Given the description of an element on the screen output the (x, y) to click on. 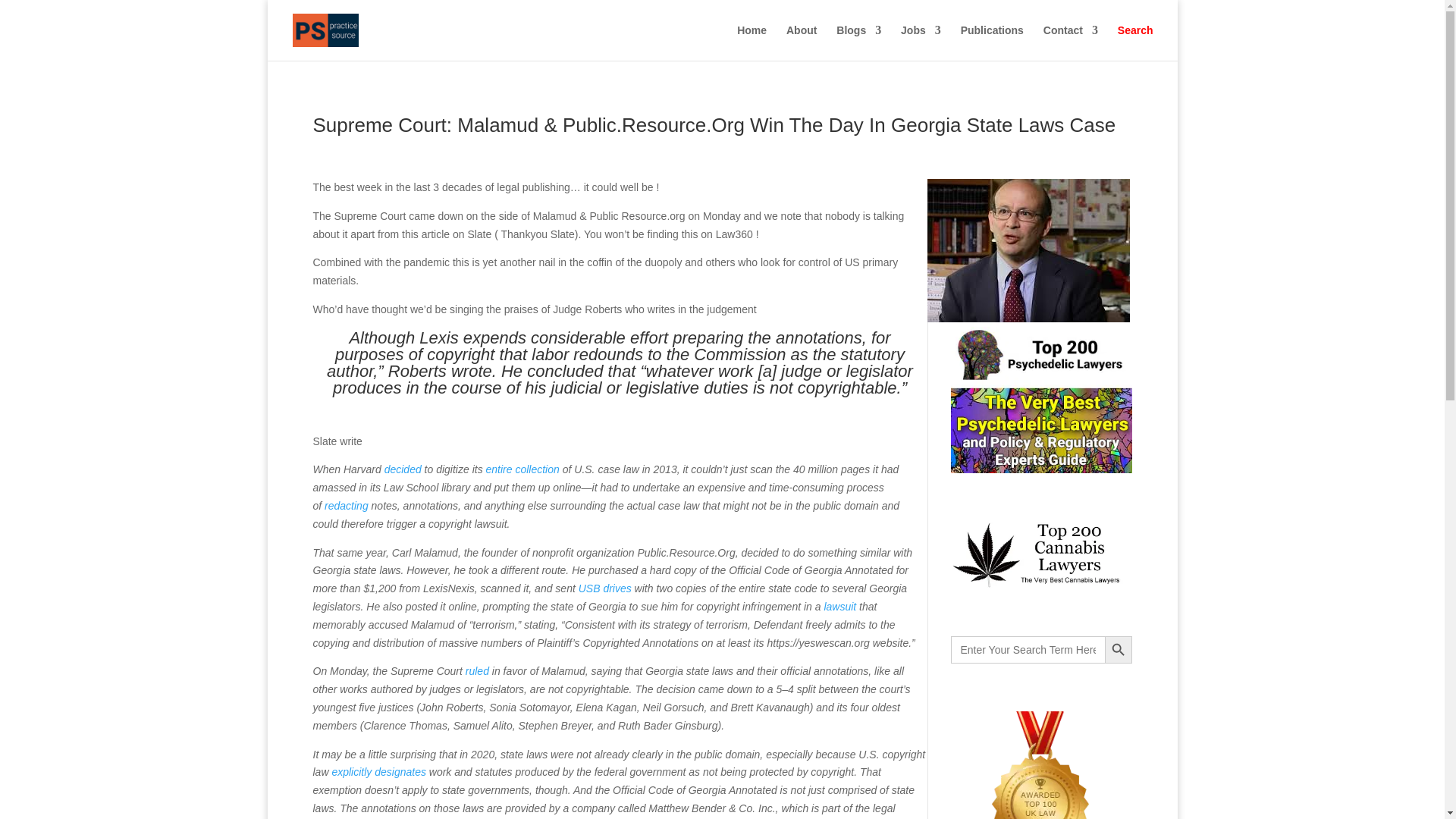
Publications (991, 42)
ruled (477, 671)
Search (1135, 42)
Contact (1070, 42)
lawsuit (840, 606)
entire collection (522, 469)
decided (403, 469)
download (1027, 250)
explicitly designates (378, 771)
USB drives (604, 588)
